Given the description of an element on the screen output the (x, y) to click on. 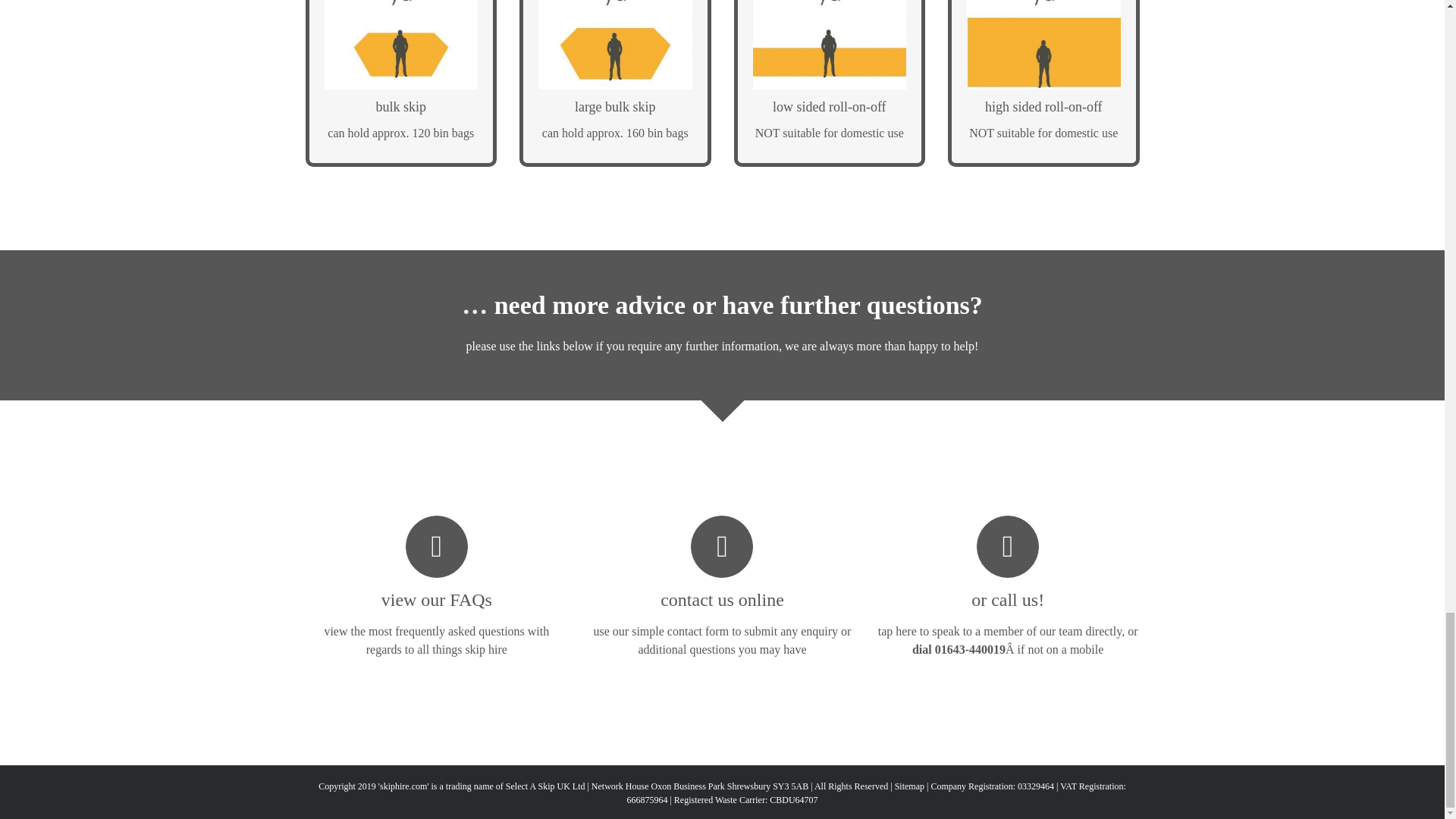
CHECK BEST RATE! (828, 138)
CHECK BEST RATE! (615, 138)
CHECK BEST RATE! (1043, 138)
CHECK BEST RATE! (401, 138)
